Given the description of an element on the screen output the (x, y) to click on. 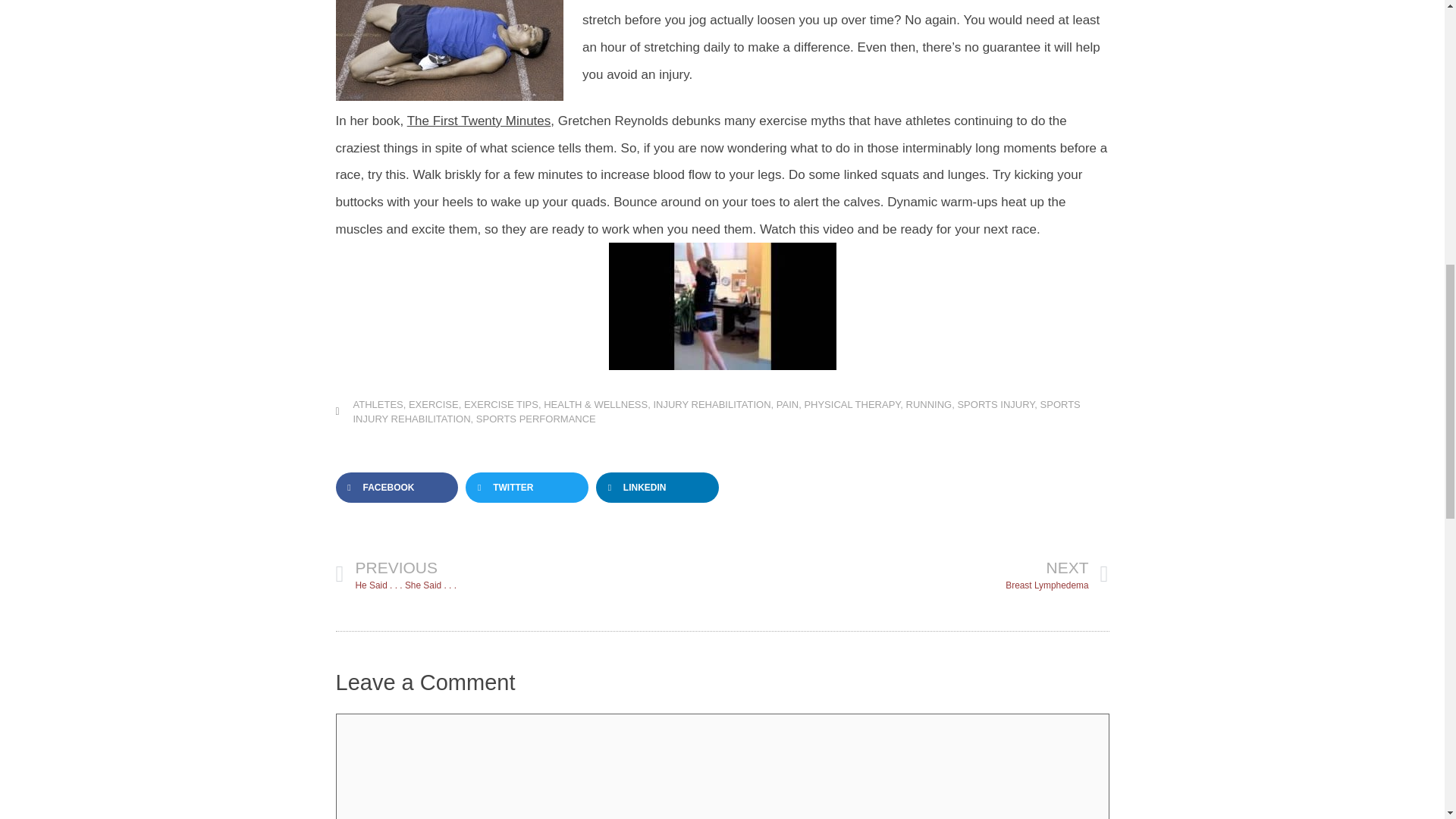
video stretch (721, 306)
stretching (448, 50)
